Given the description of an element on the screen output the (x, y) to click on. 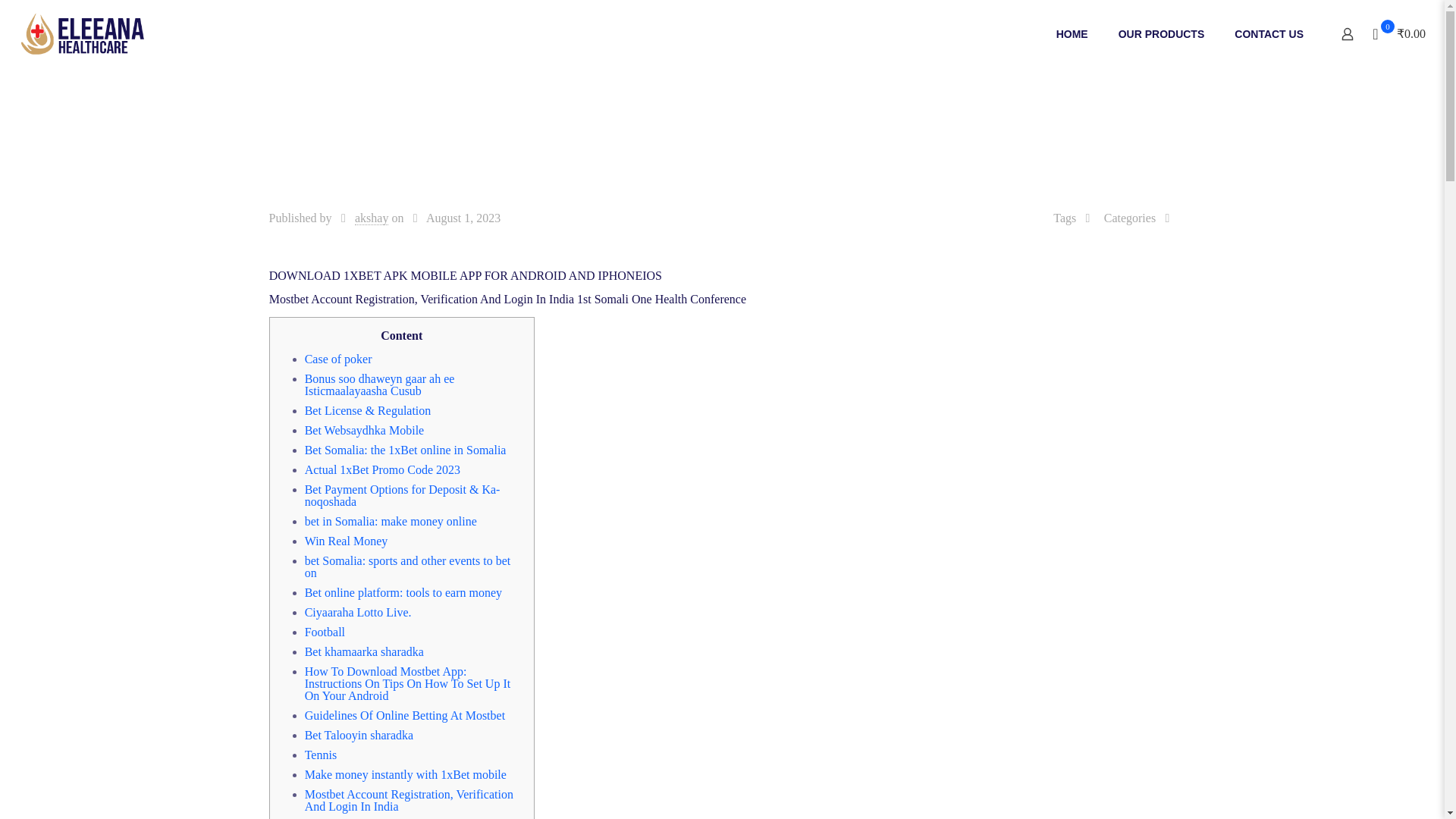
Make money instantly with 1xBet mobile (405, 774)
Ciyaaraha Lotto Live. (358, 612)
akshay (371, 218)
bet in Somalia: make money online (390, 521)
Bet Somalia: the 1xBet online in Somalia (405, 449)
bet Somalia: sports and other events to bet on (407, 566)
Case of poker (338, 358)
Win Real Money (346, 540)
Bet online platform: tools to earn money (403, 592)
Guidelines Of Online Betting At Mostbet (404, 715)
Tennis (320, 754)
Bonus soo dhaweyn gaar ah ee Isticmaalayaasha Cusub (379, 384)
Actual 1xBet Promo Code 2023 (382, 469)
Bet Talooyin sharadka (358, 735)
